Given the description of an element on the screen output the (x, y) to click on. 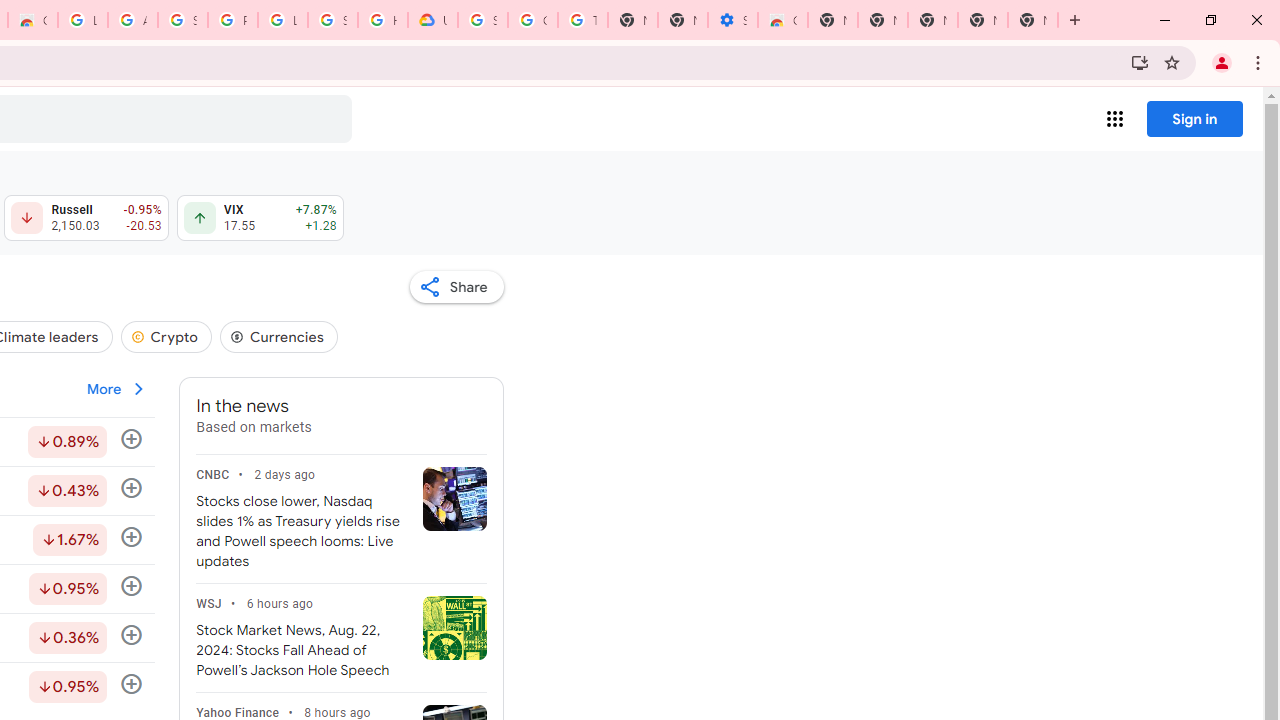
Turn cookies on or off - Computer - Google Account Help (582, 20)
More (117, 388)
Crypto (166, 336)
Google Account Help (533, 20)
Sign in - Google Accounts (182, 20)
